Given the description of an element on the screen output the (x, y) to click on. 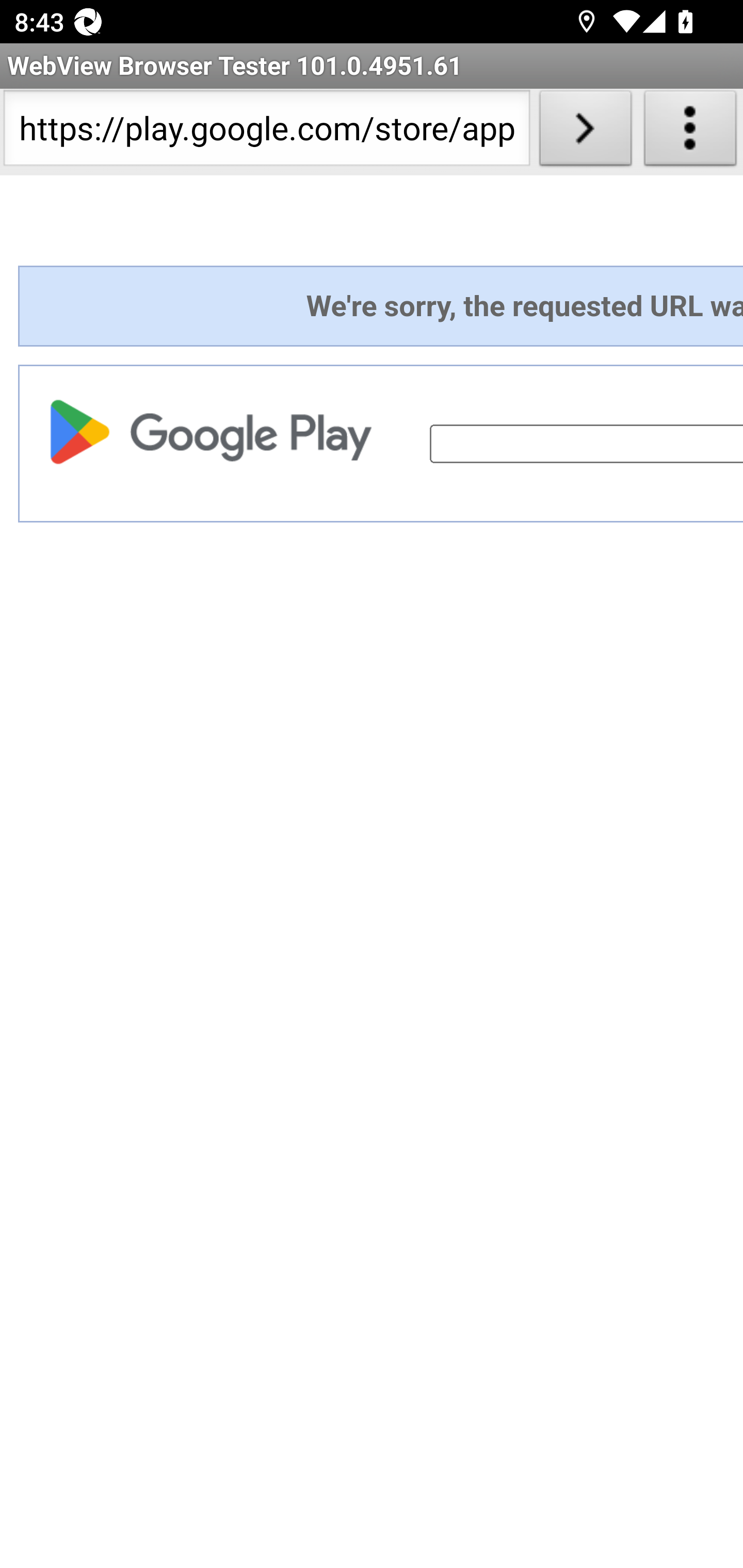
Load URL (585, 132)
About WebView (690, 132)
Google Play (216, 431)
